Given the description of an element on the screen output the (x, y) to click on. 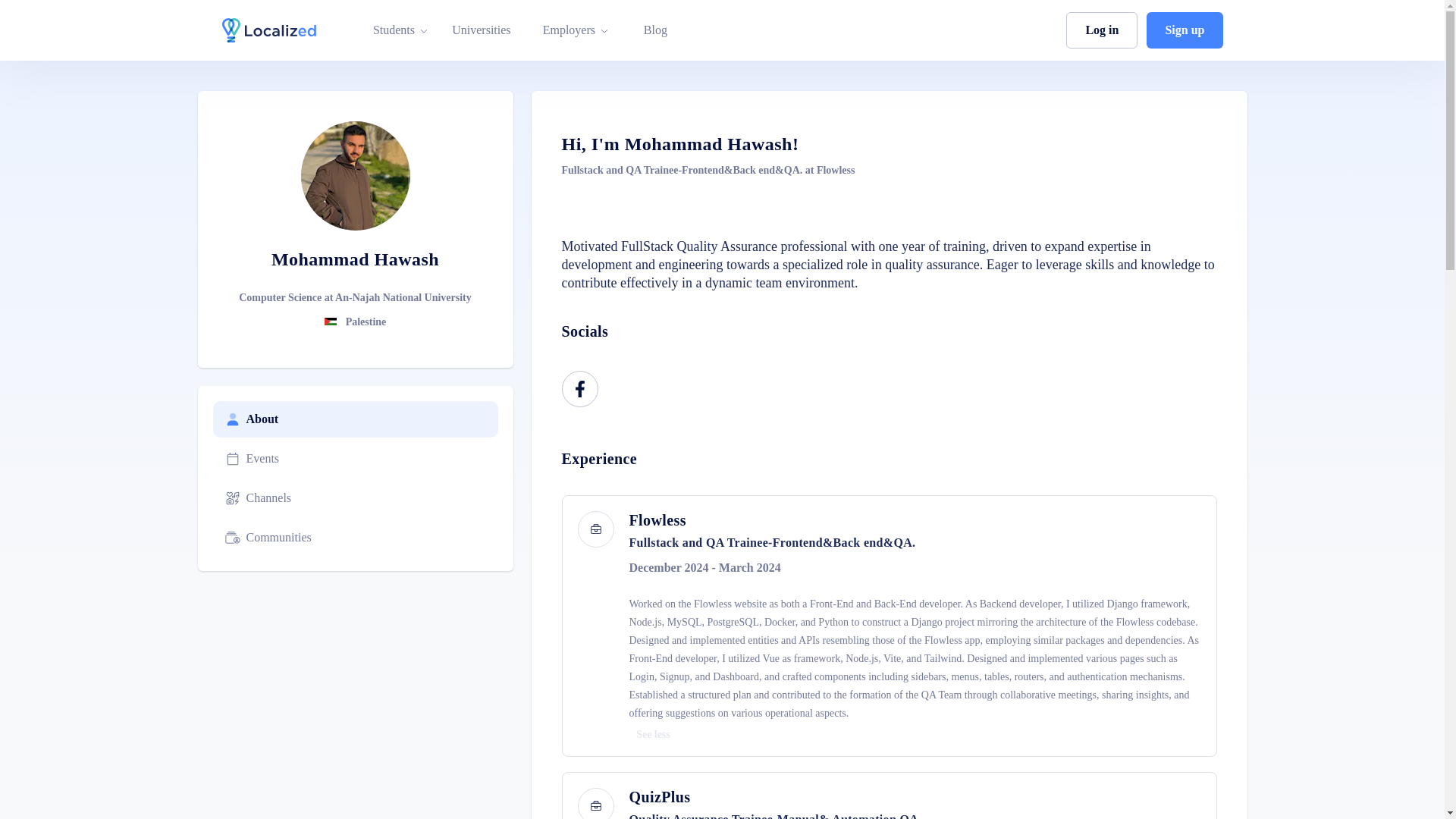
Students (393, 30)
Blog (654, 30)
See less (653, 734)
Universities (481, 30)
Sign up (1185, 30)
Log in (1101, 30)
Events (354, 458)
Employers (568, 30)
Communities (354, 537)
About (354, 419)
